Given the description of an element on the screen output the (x, y) to click on. 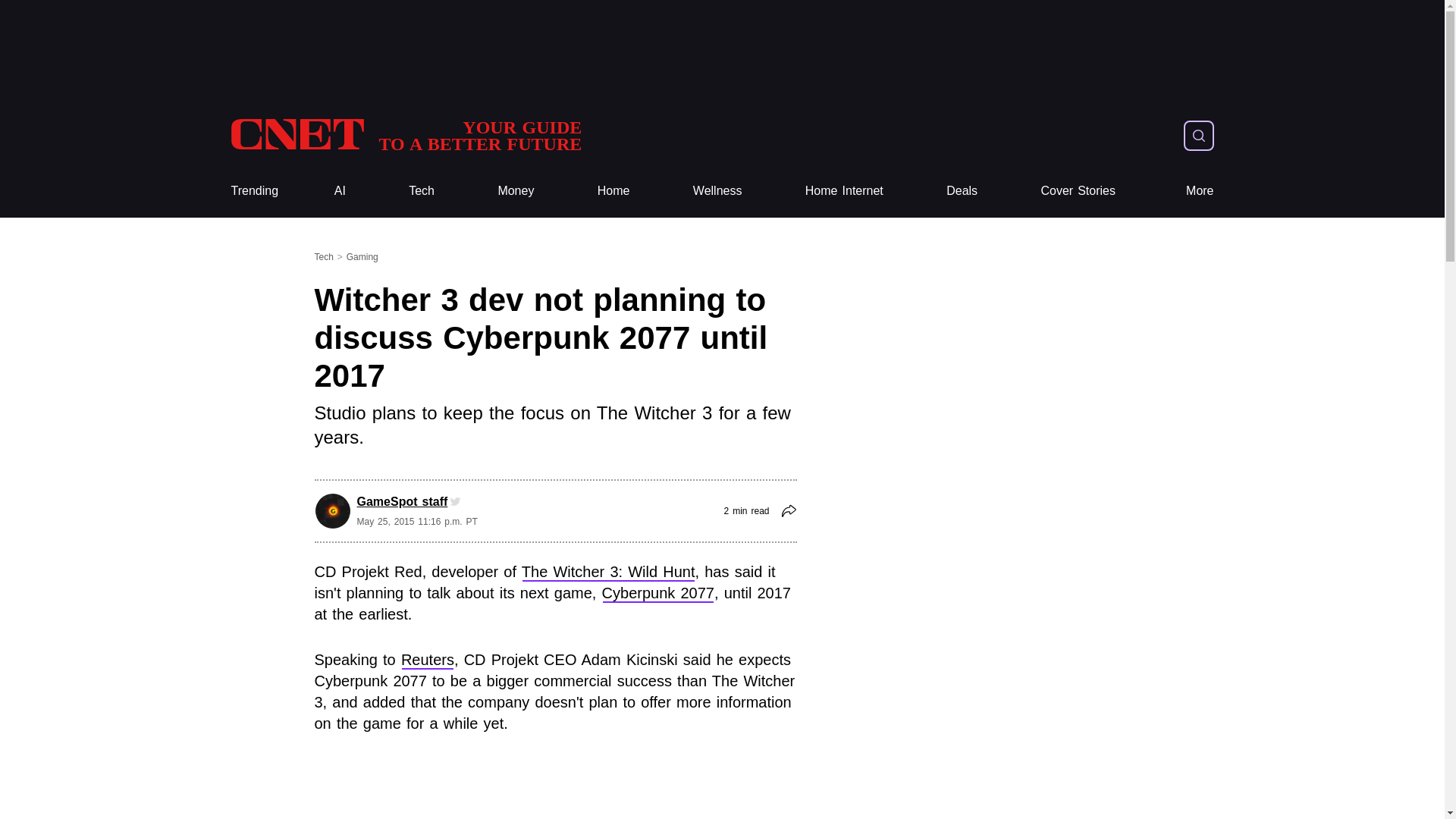
Deals (961, 190)
Home Internet (844, 190)
Tech (421, 190)
Home Internet (844, 190)
Trending (254, 190)
Wellness (717, 190)
Money (515, 190)
Wellness (717, 190)
Money (405, 135)
